Given the description of an element on the screen output the (x, y) to click on. 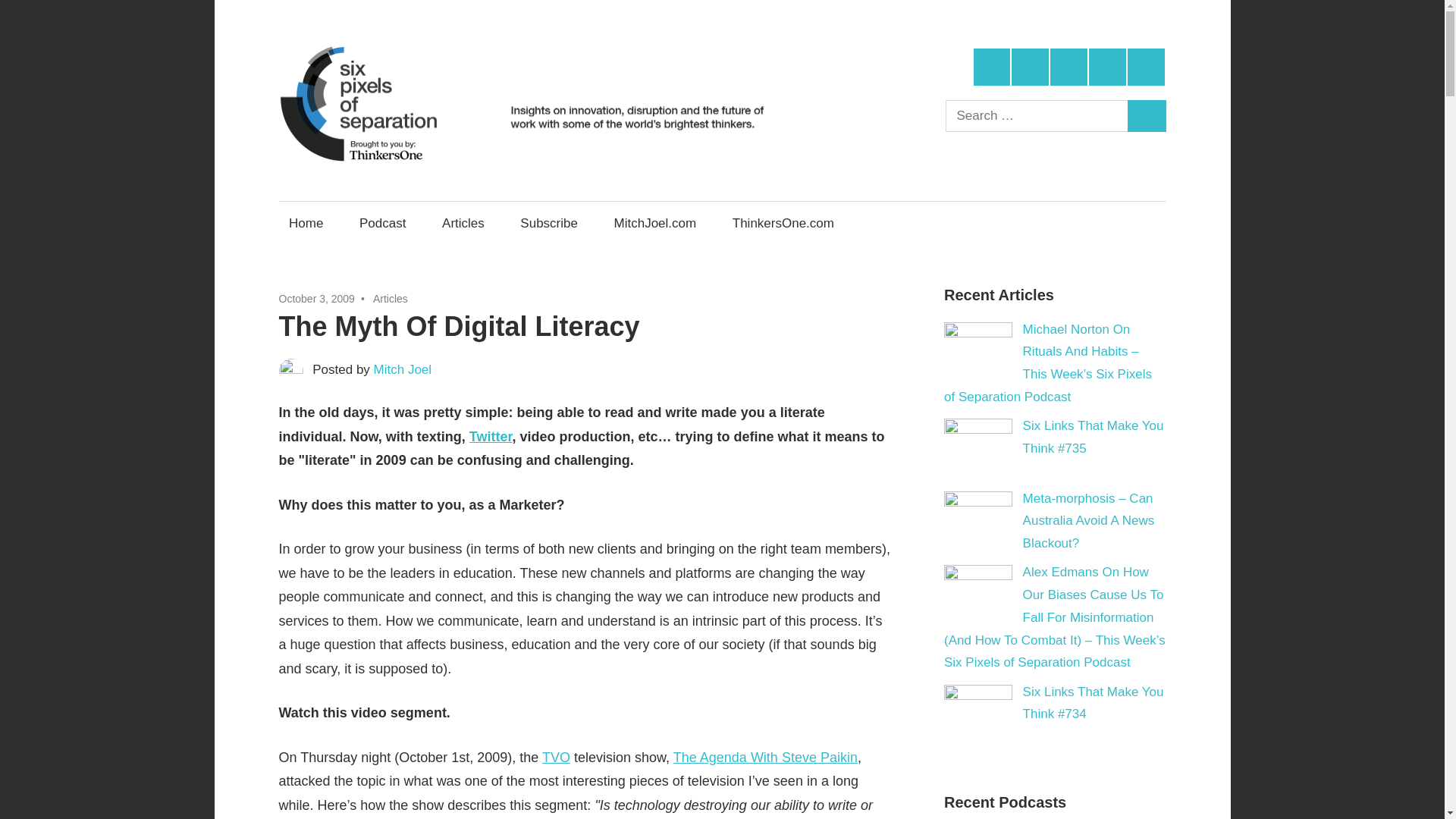
Articles (389, 298)
Twitter (992, 66)
Instagram (1107, 66)
Articles (462, 222)
Twitter (992, 66)
LinkedIn (1068, 66)
Facebook (1029, 66)
Twitter (490, 436)
Instagram (1107, 66)
LinkedIn (1068, 66)
Email (1145, 66)
Home (306, 222)
October 3, 2009 (317, 298)
View all posts by Mitch Joel (403, 369)
The Agenda With Steve Paikin (764, 757)
